Given the description of an element on the screen output the (x, y) to click on. 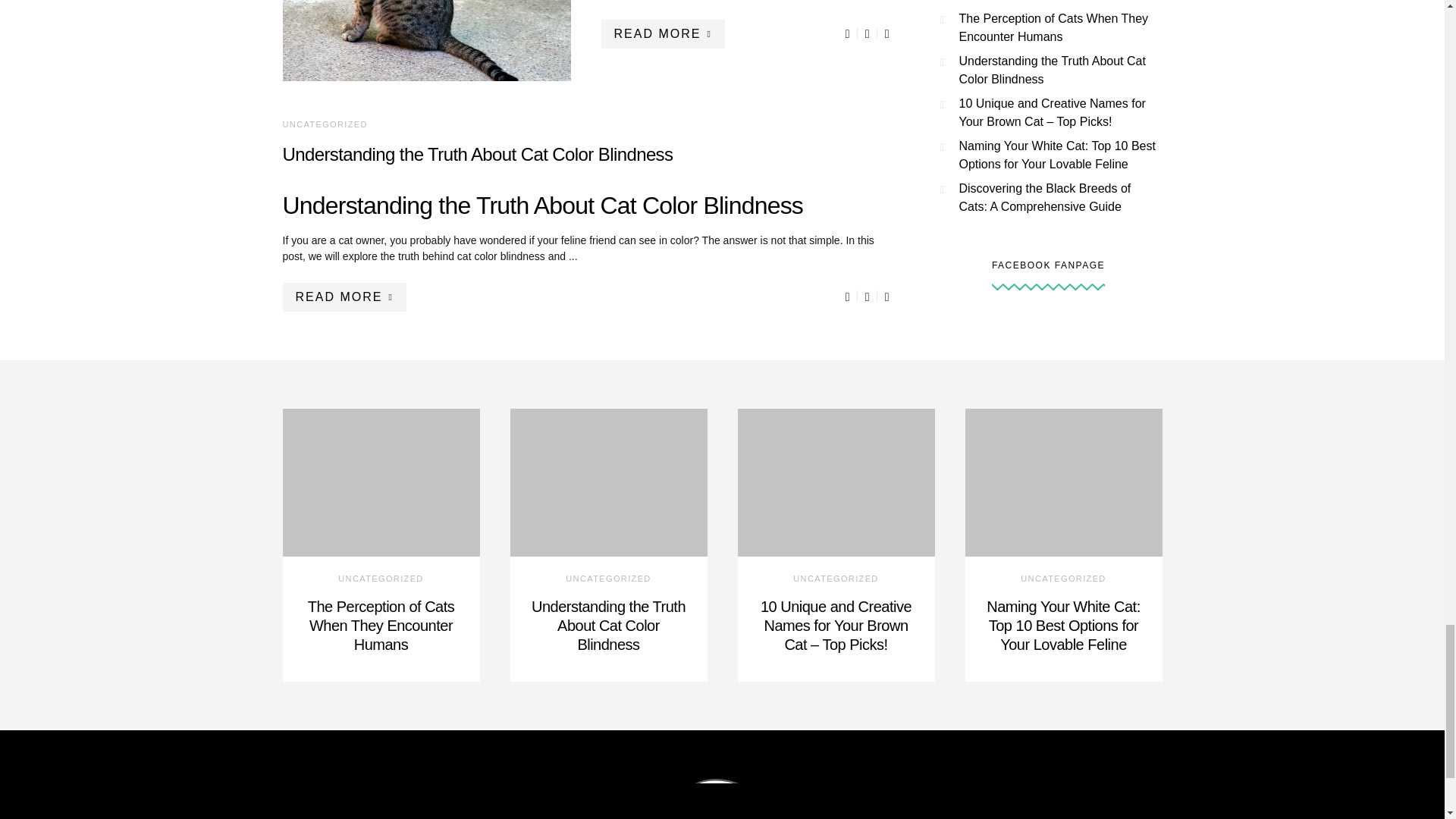
The Perception of Cats When They Encounter Humans (380, 625)
Understanding the Truth About Cat Color Blindness (608, 625)
